Given the description of an element on the screen output the (x, y) to click on. 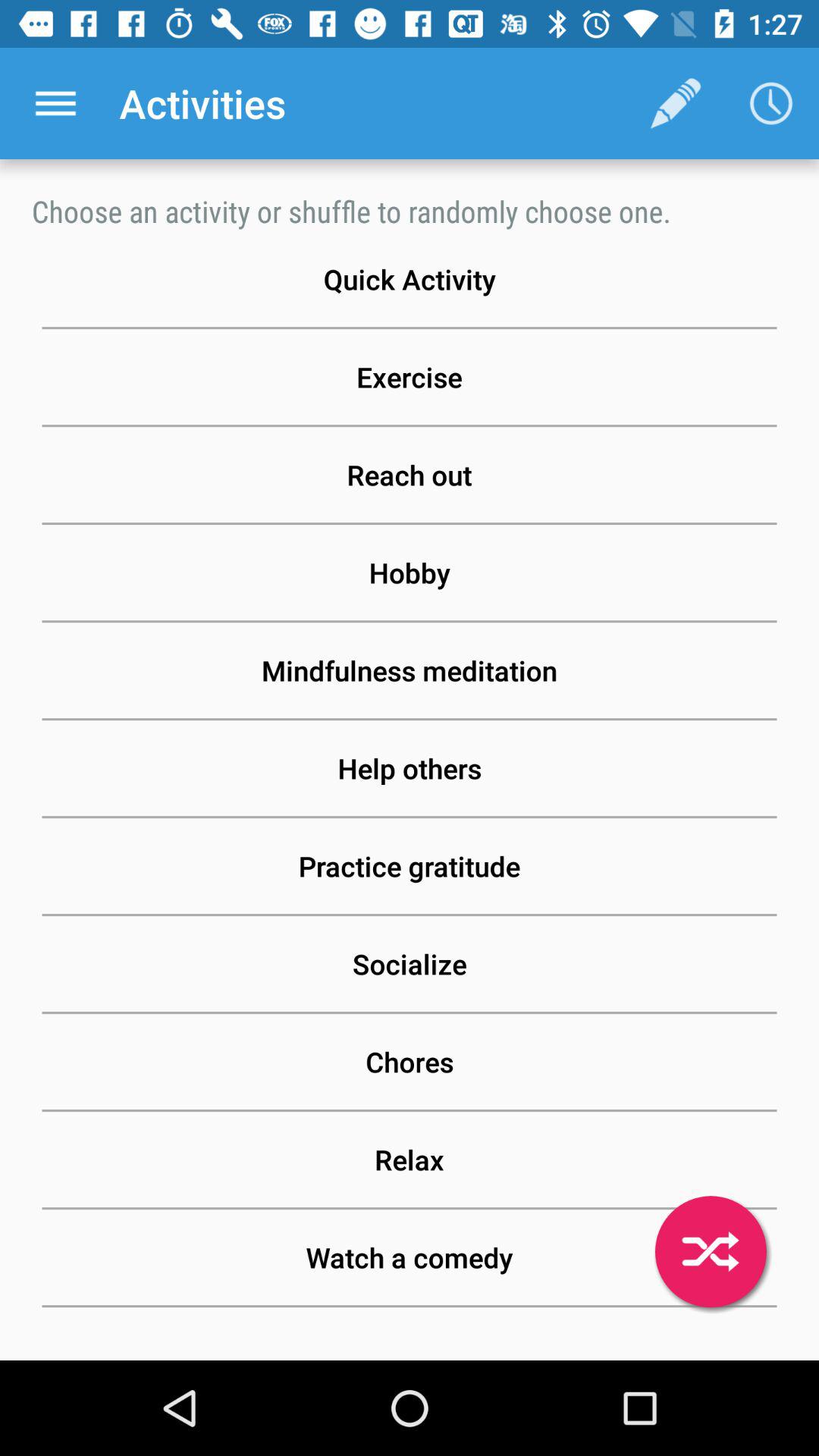
scroll to the exercise (409, 376)
